Given the description of an element on the screen output the (x, y) to click on. 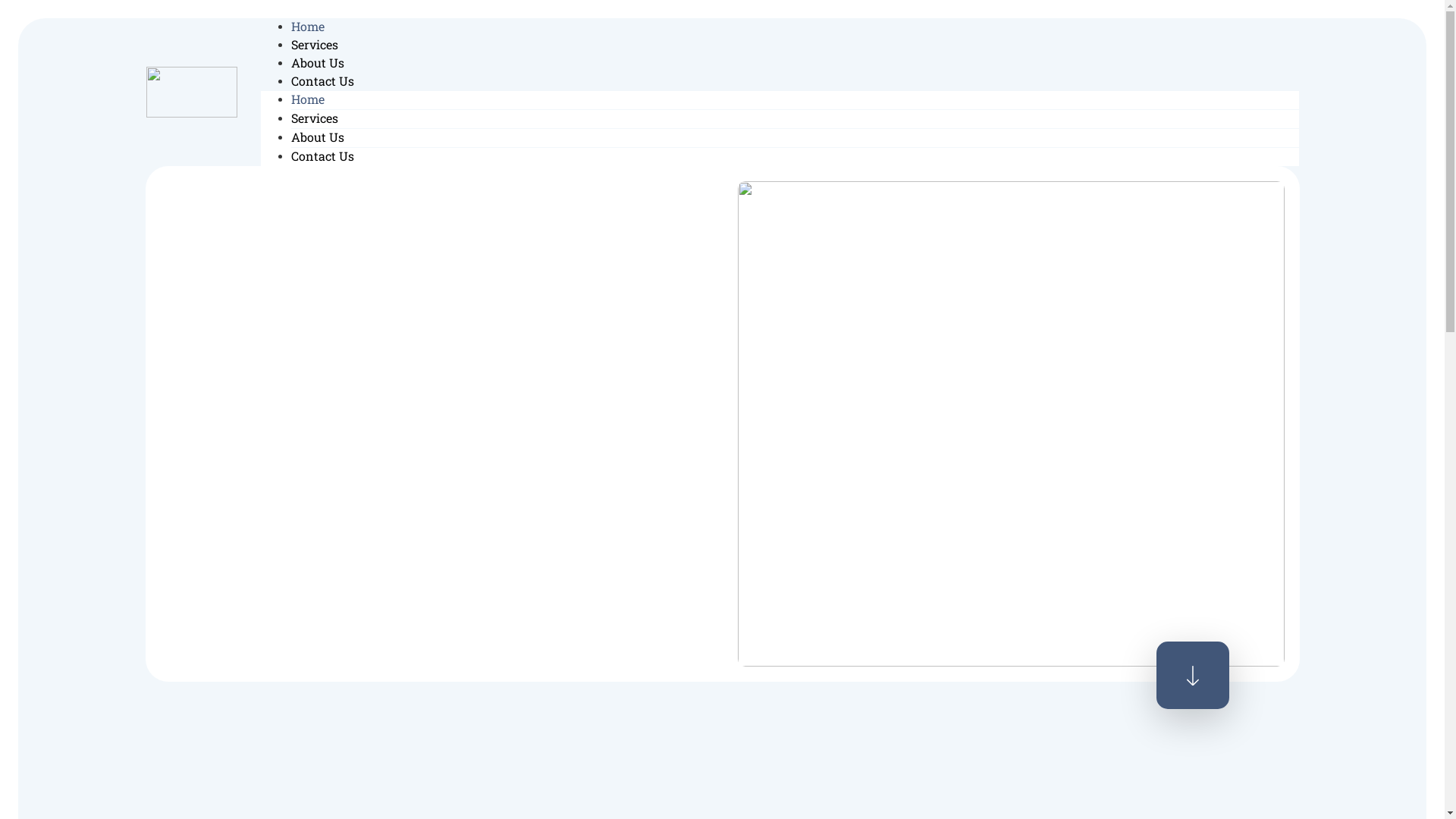
Home Element type: text (307, 25)
About Us Element type: text (317, 136)
Contact Us Element type: text (322, 155)
Services Element type: text (314, 44)
Home Element type: text (307, 98)
About Us Element type: text (317, 62)
Services Element type: text (314, 117)
Contact Us Element type: text (322, 80)
